Given the description of an element on the screen output the (x, y) to click on. 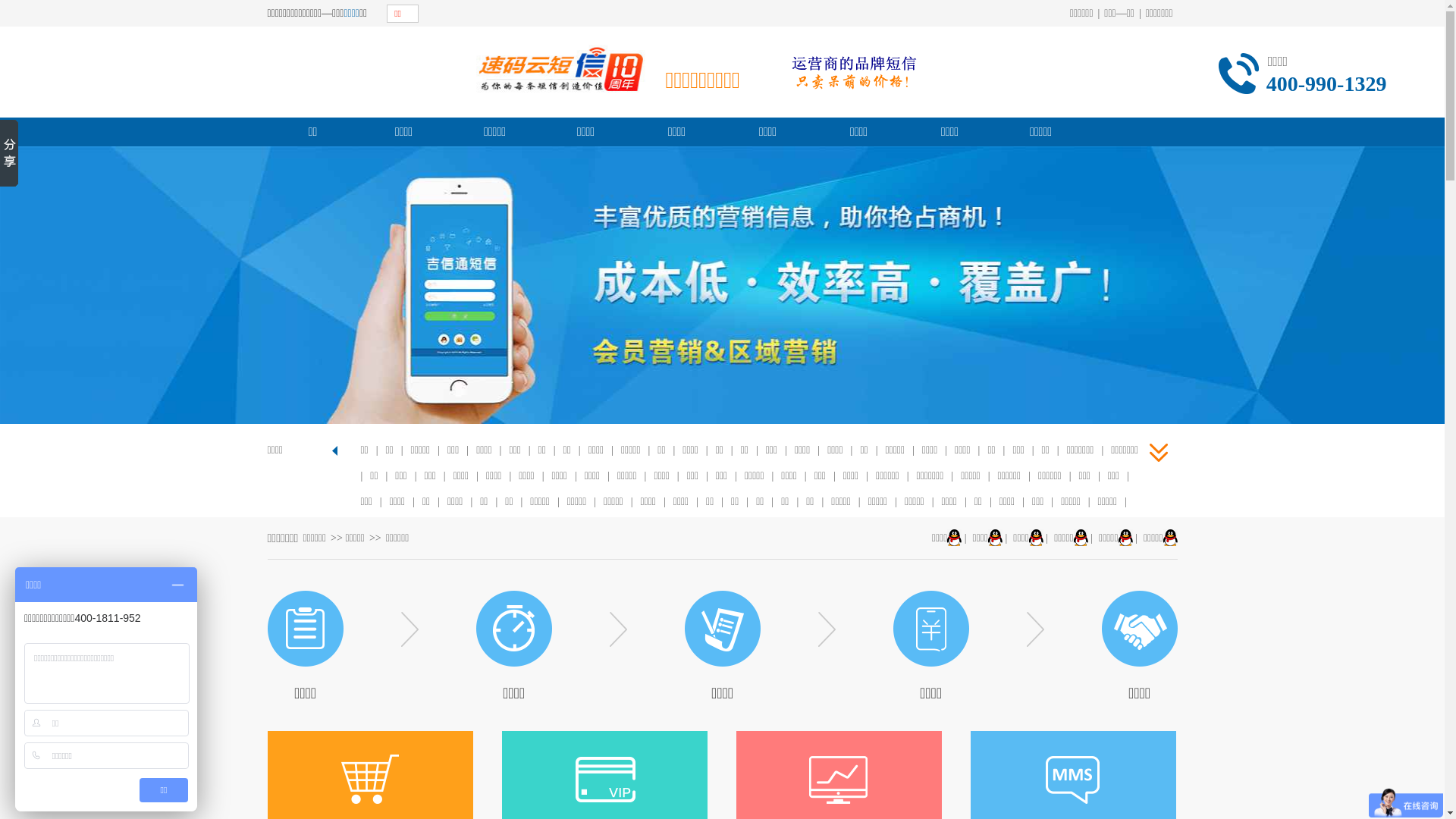
1 Element type: text (704, 406)
3 Element type: text (740, 406)
2 Element type: text (721, 406)
